Given the description of an element on the screen output the (x, y) to click on. 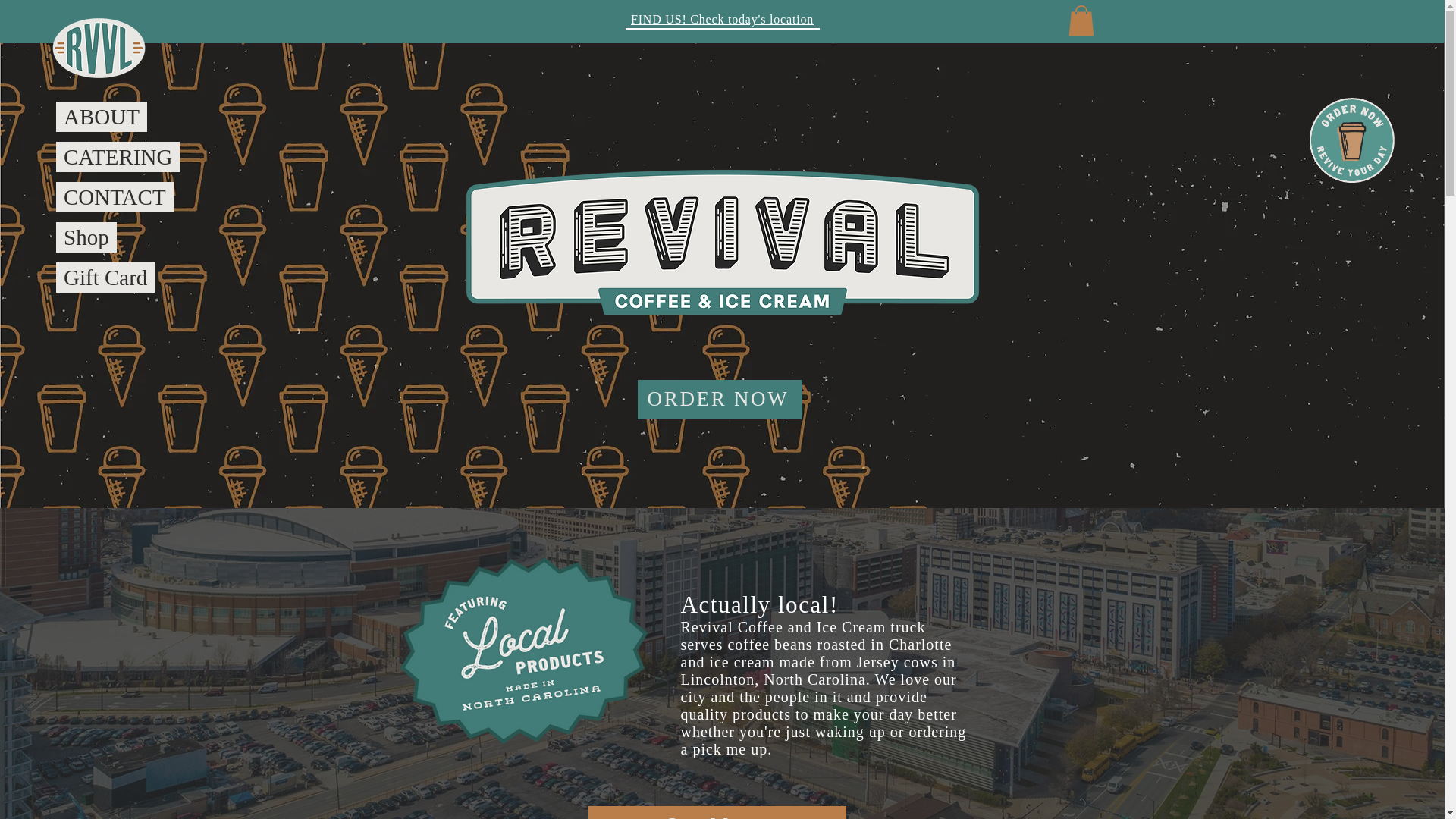
CONTACT (114, 196)
ORDER NOW (719, 399)
ABOUT (101, 116)
Gift Card (105, 277)
Shop (86, 236)
Our Menu (716, 812)
FIND US! Check today's location (721, 19)
CATERING (117, 156)
